Given the description of an element on the screen output the (x, y) to click on. 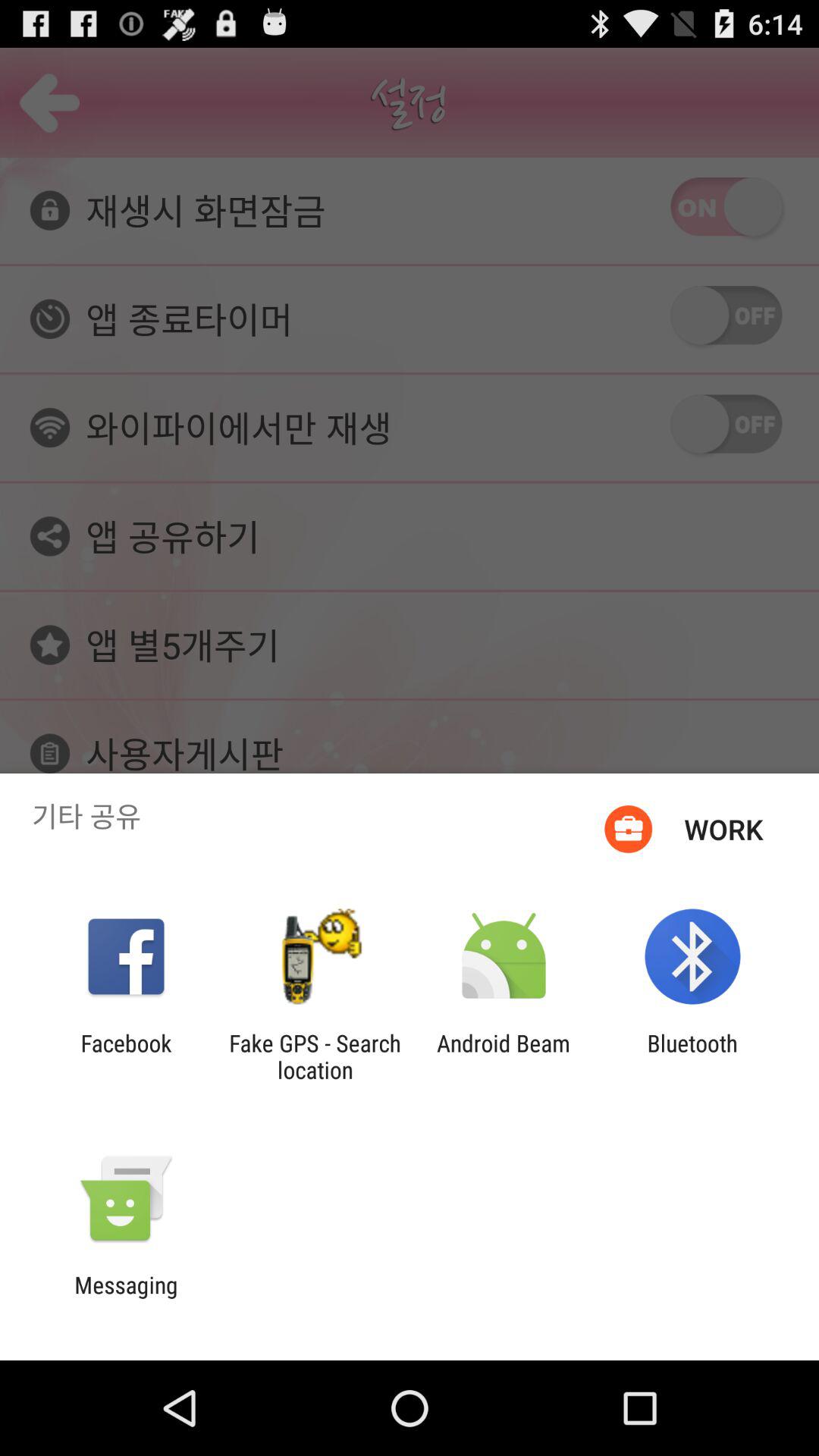
select item to the left of fake gps search (125, 1056)
